Given the description of an element on the screen output the (x, y) to click on. 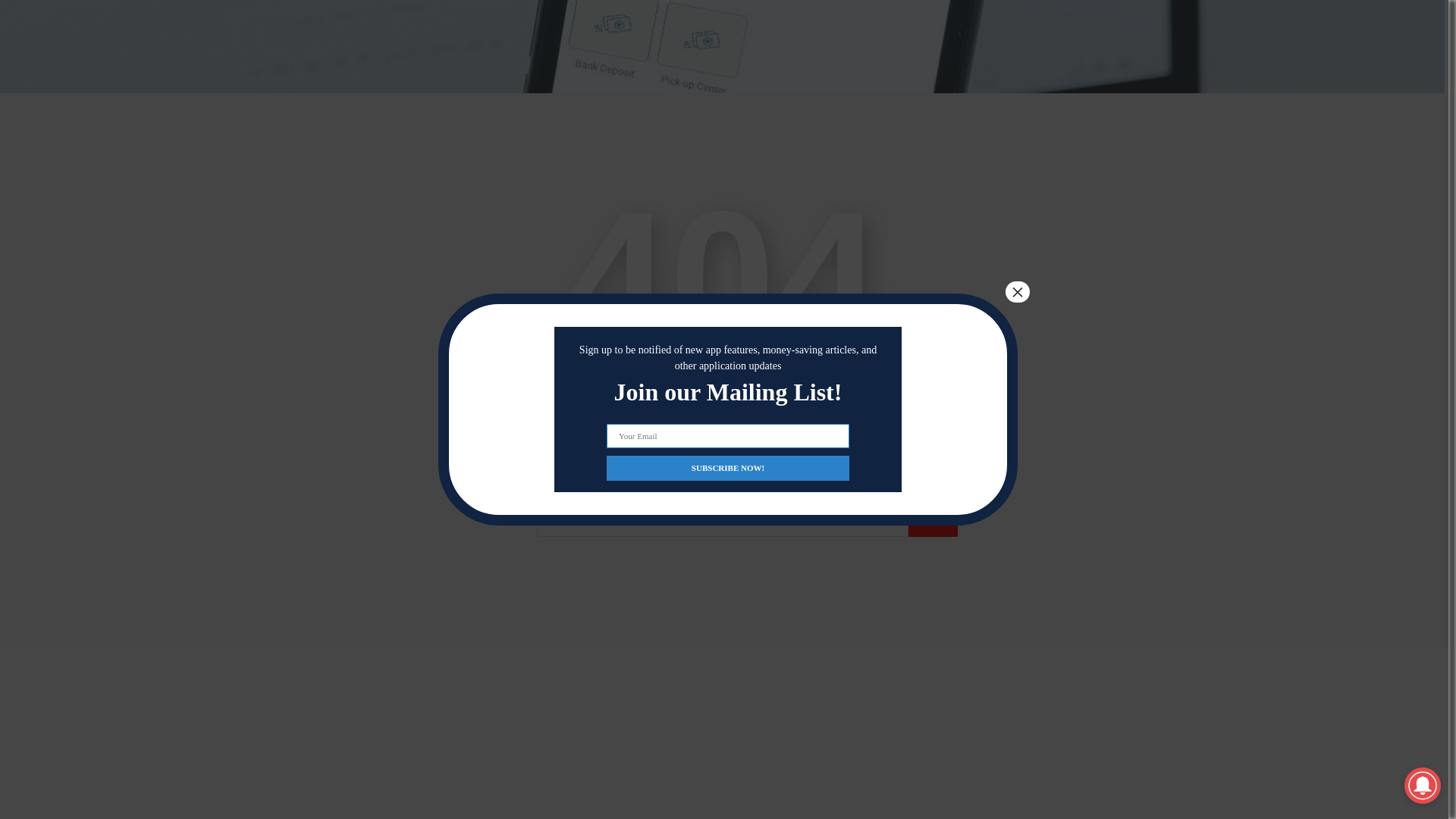
Search (933, 521)
Search (933, 521)
VISIT HOMEPAGE (722, 422)
SUBSCRIBE NOW! (727, 285)
SUBSCRIBE NOW! (727, 285)
Search (933, 521)
